Given the description of an element on the screen output the (x, y) to click on. 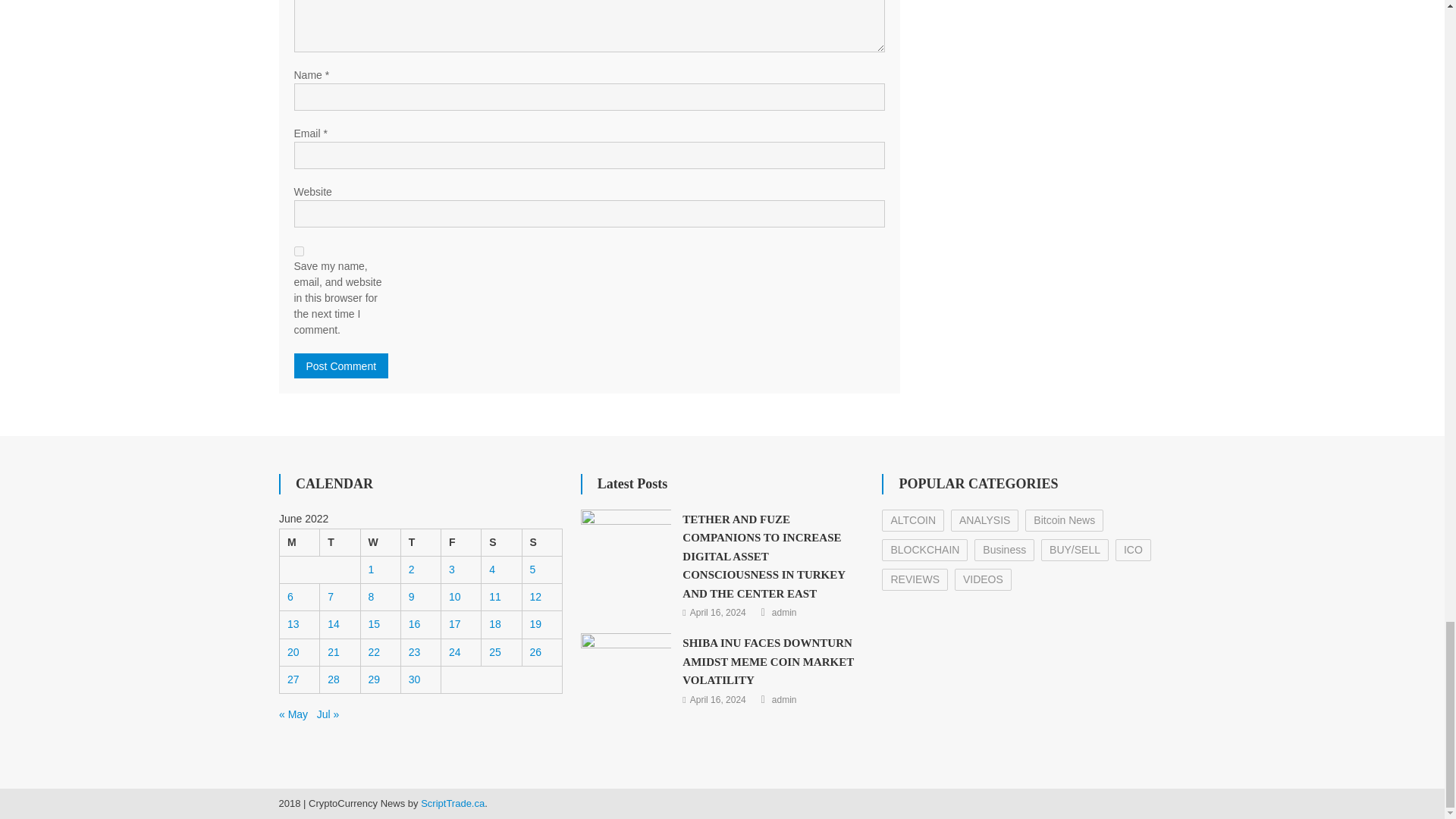
Monday (298, 542)
Thursday (420, 542)
Post Comment (341, 365)
Wednesday (379, 542)
Sunday (541, 542)
Tuesday (339, 542)
Saturday (501, 542)
Shiba Inu Faces Downturn Amidst Meme Coin Market Volatility (625, 665)
yes (299, 251)
Friday (461, 542)
